Given the description of an element on the screen output the (x, y) to click on. 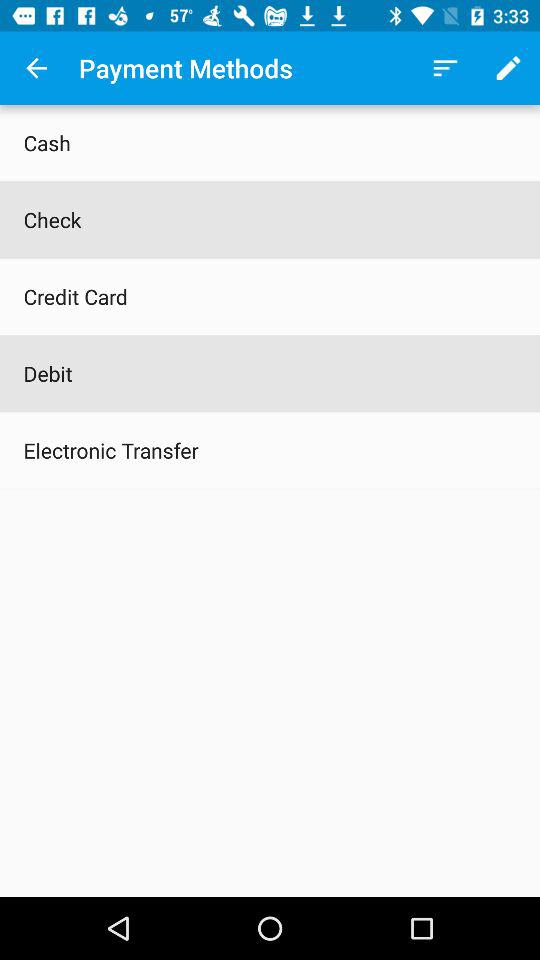
turn off the icon to the left of payment methods (36, 68)
